Given the description of an element on the screen output the (x, y) to click on. 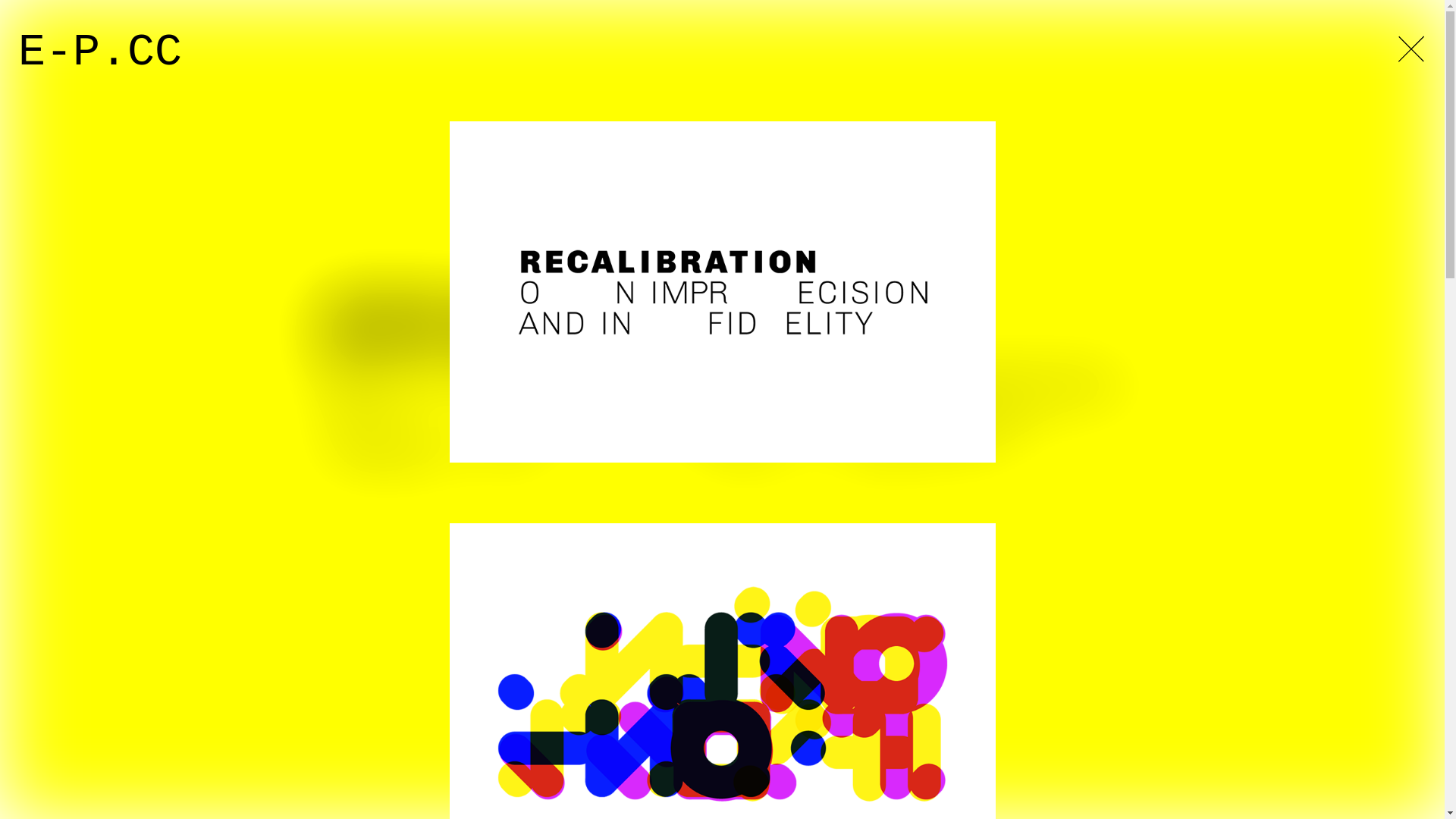
E-P.CC Element type: text (100, 52)
